Given the description of an element on the screen output the (x, y) to click on. 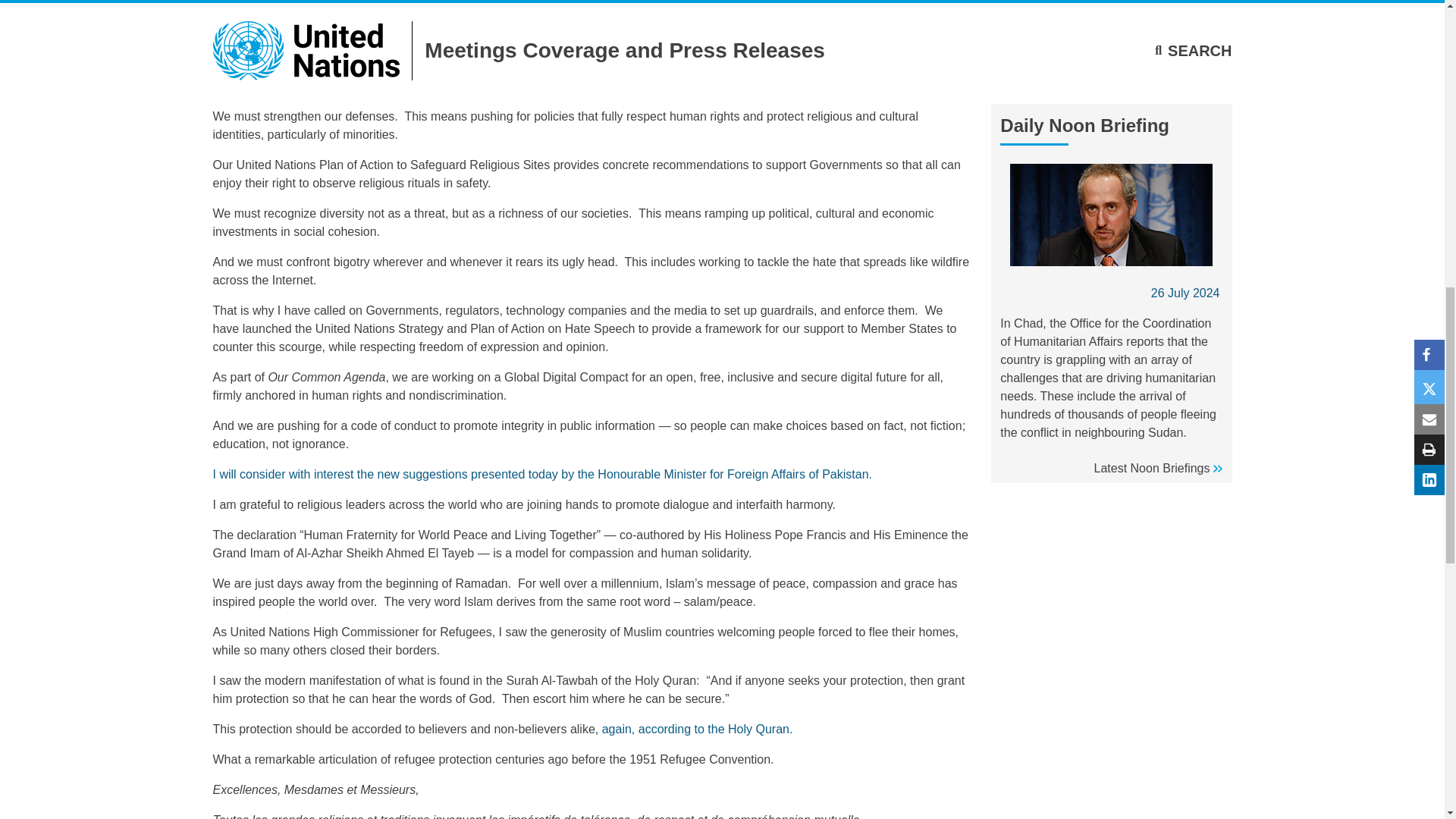
, again, according to the Holy Quran. (694, 728)
